Given the description of an element on the screen output the (x, y) to click on. 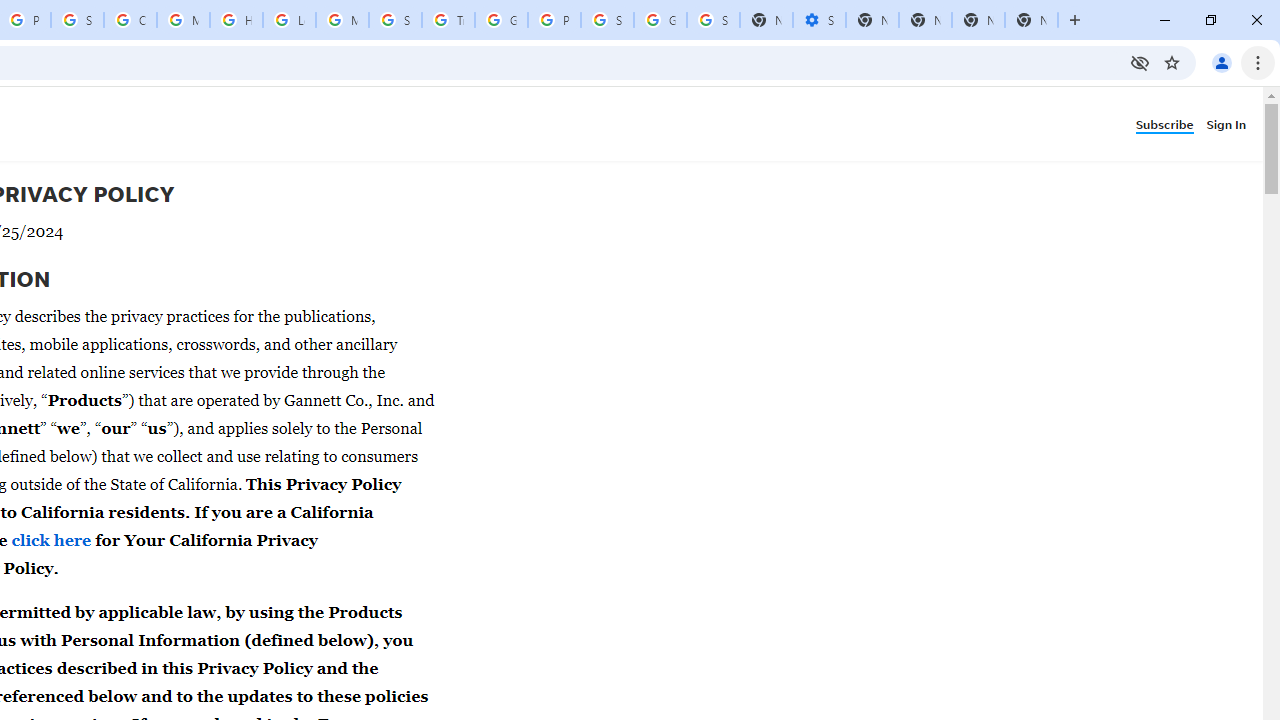
Trusted Information and Content - Google Safety Center (448, 20)
New Tab (1031, 20)
Sign In (1230, 123)
Google Cybersecurity Innovations - Google Safety Center (660, 20)
Google Ads - Sign in (501, 20)
Settings - Performance (819, 20)
Search our Doodle Library Collection - Google Doodles (395, 20)
